Given the description of an element on the screen output the (x, y) to click on. 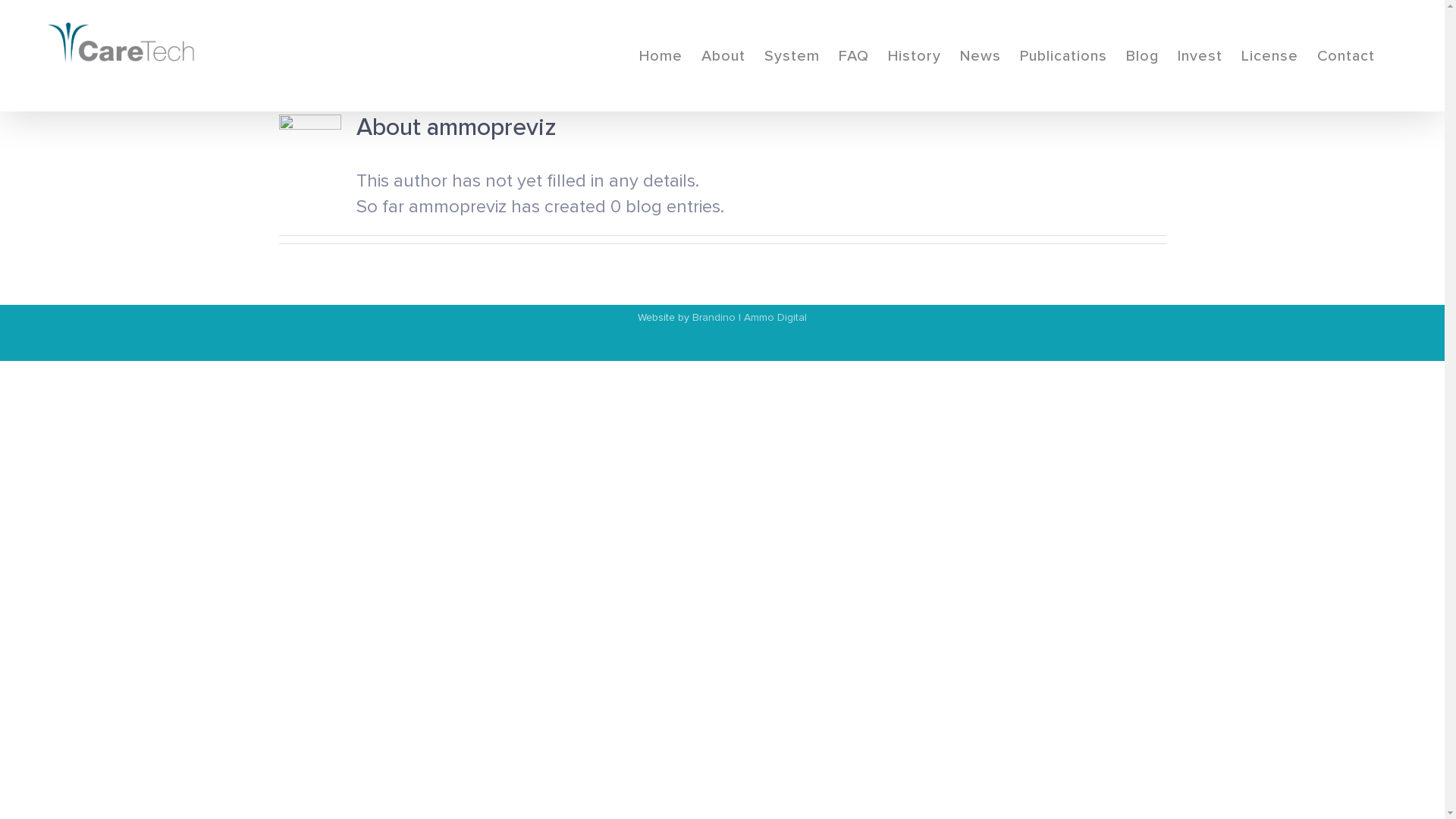
Contact Element type: text (1345, 55)
License Element type: text (1269, 55)
Blog Element type: text (1142, 55)
Ammo Digital Element type: text (774, 316)
FAQ Element type: text (853, 55)
Home Element type: text (660, 55)
About Element type: text (723, 55)
Invest Element type: text (1199, 55)
History Element type: text (914, 55)
Brandino Element type: text (713, 316)
Publications Element type: text (1063, 55)
News Element type: text (980, 55)
System Element type: text (791, 55)
